Given the description of an element on the screen output the (x, y) to click on. 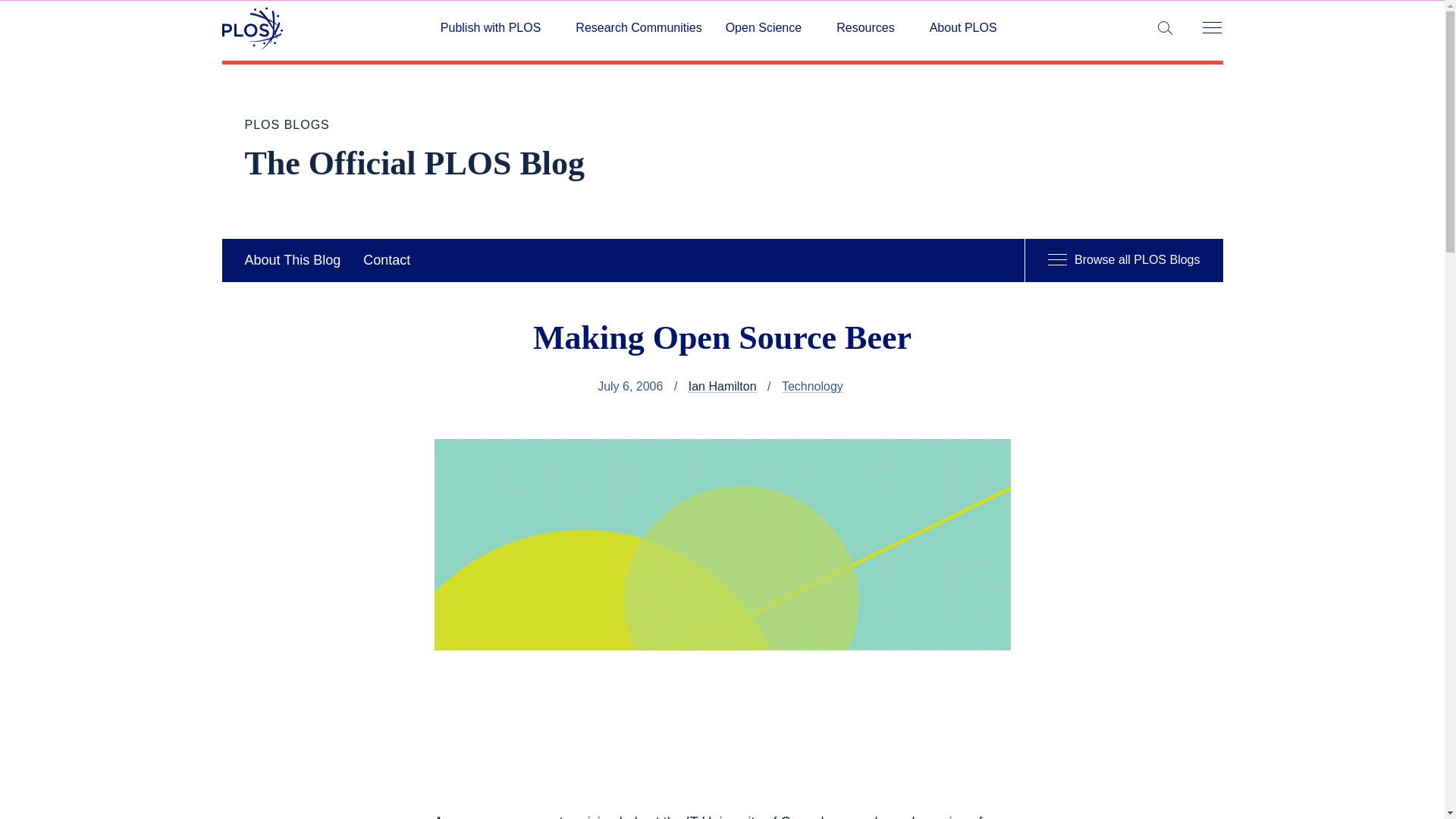
Menu (1211, 28)
About PLOS (962, 28)
Publish with PLOS (496, 28)
Research Communities (638, 28)
Search (15, 15)
Open Science (769, 28)
Resources (870, 28)
